Given the description of an element on the screen output the (x, y) to click on. 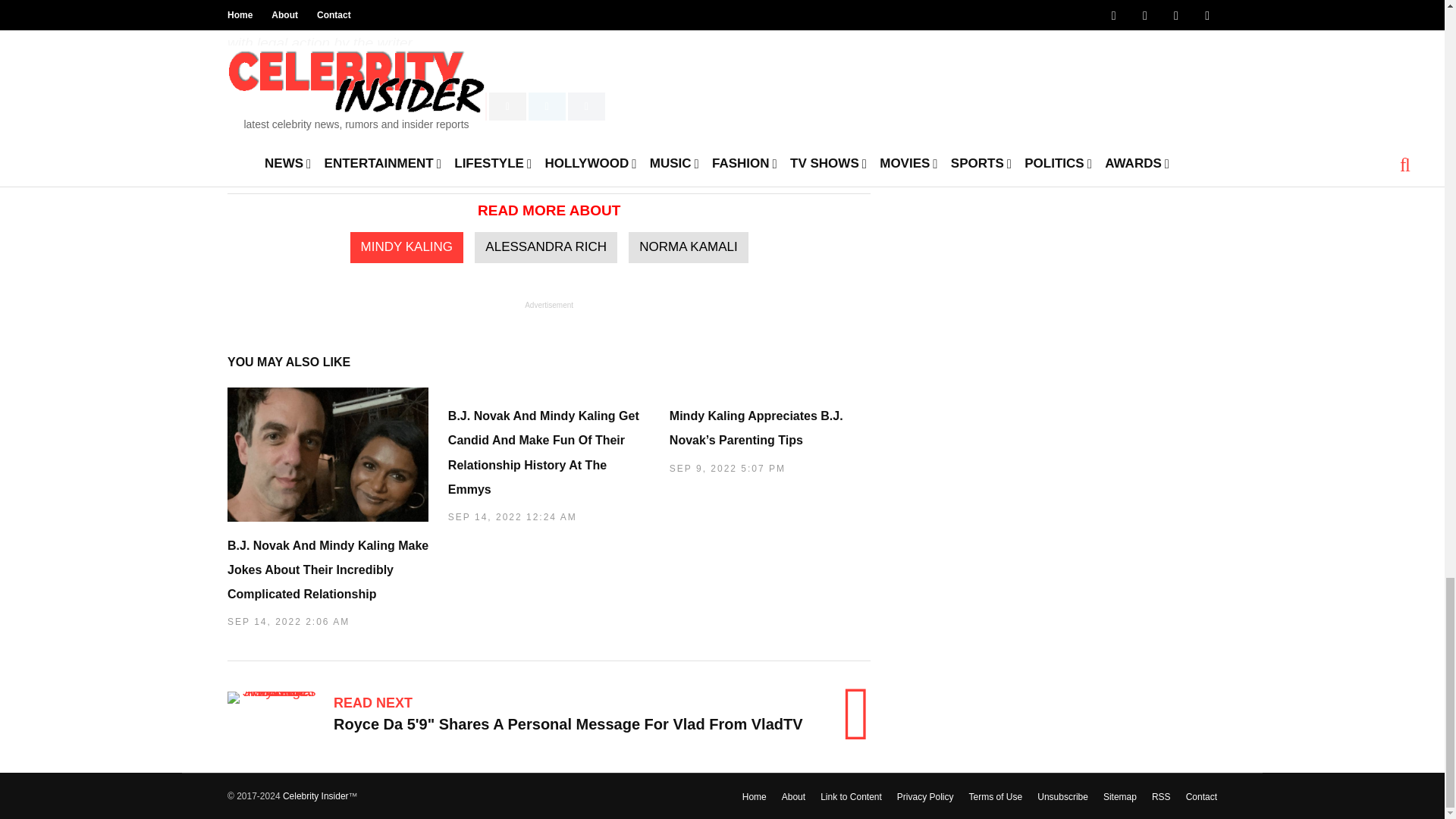
Share On Reddit (507, 106)
Share On Twitter (406, 106)
Share On Pinterest (467, 106)
Share On Facebook (296, 106)
Share On Tumblr (586, 106)
Share On Linkedin (547, 106)
